Given the description of an element on the screen output the (x, y) to click on. 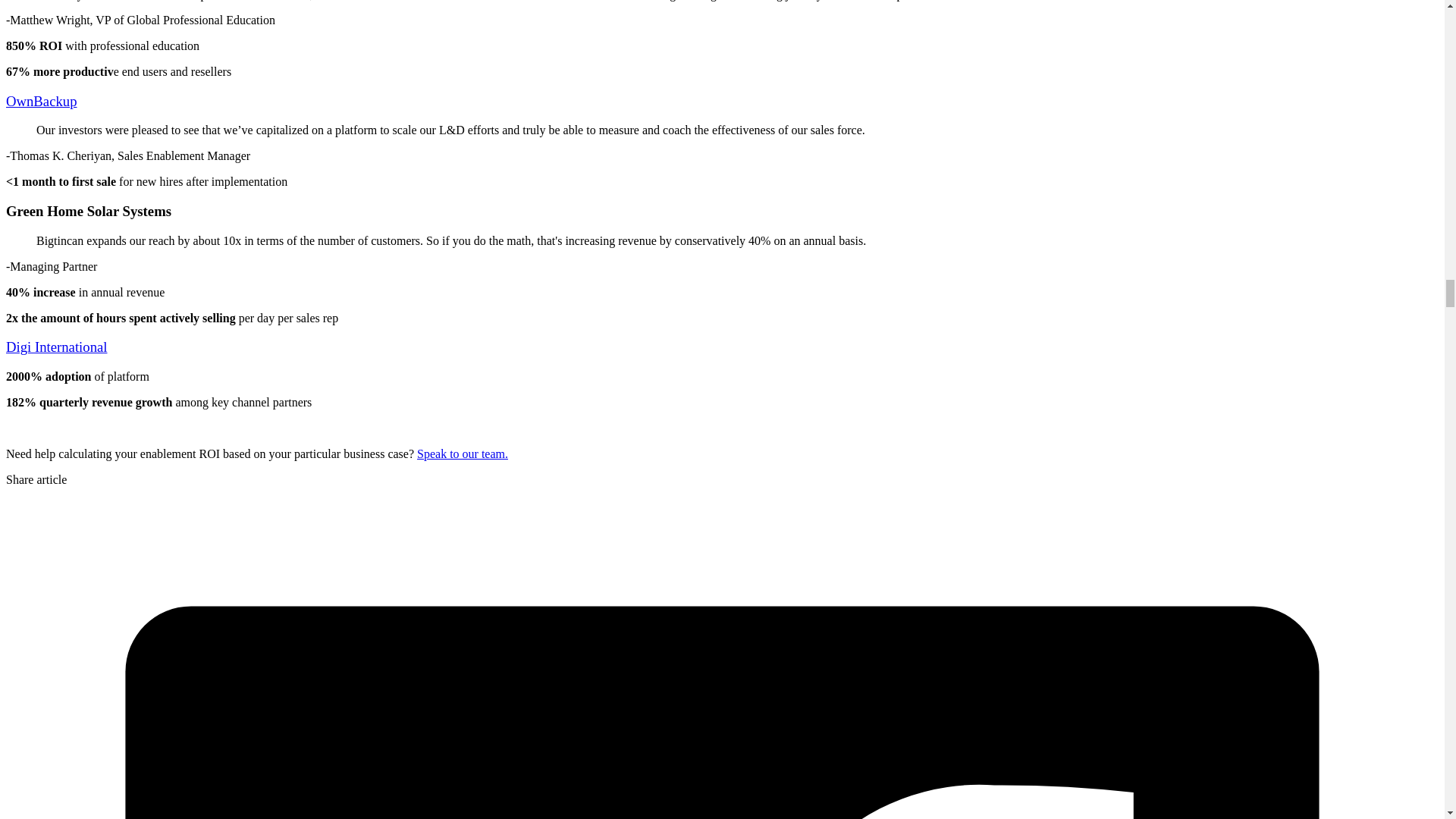
Digi International (55, 346)
OwnBackup (41, 100)
Speak to our team. (462, 453)
